Given the description of an element on the screen output the (x, y) to click on. 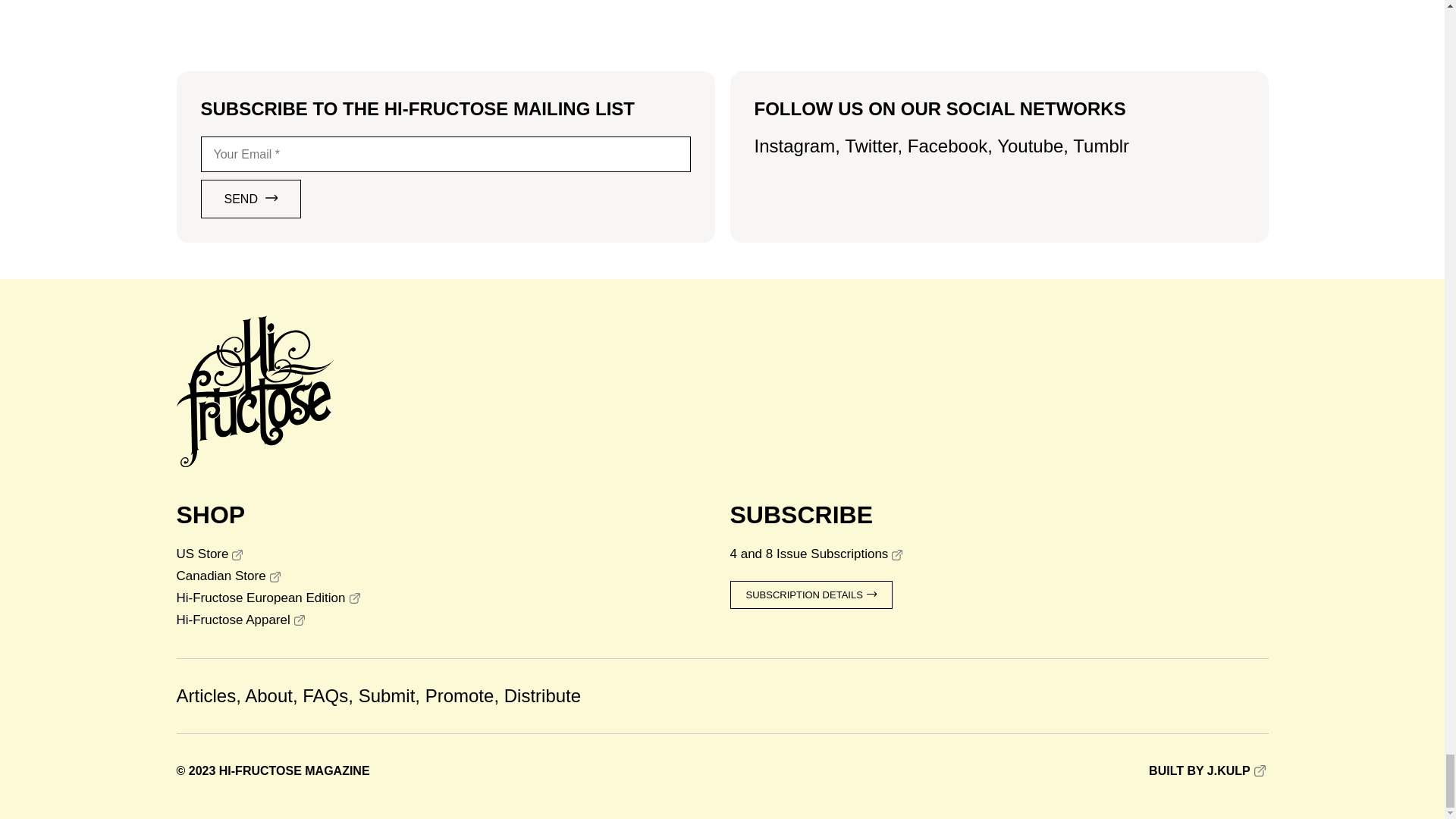
Twitter (870, 145)
Instagram (794, 145)
Facebook (947, 145)
SEND (249, 198)
